Given the description of an element on the screen output the (x, y) to click on. 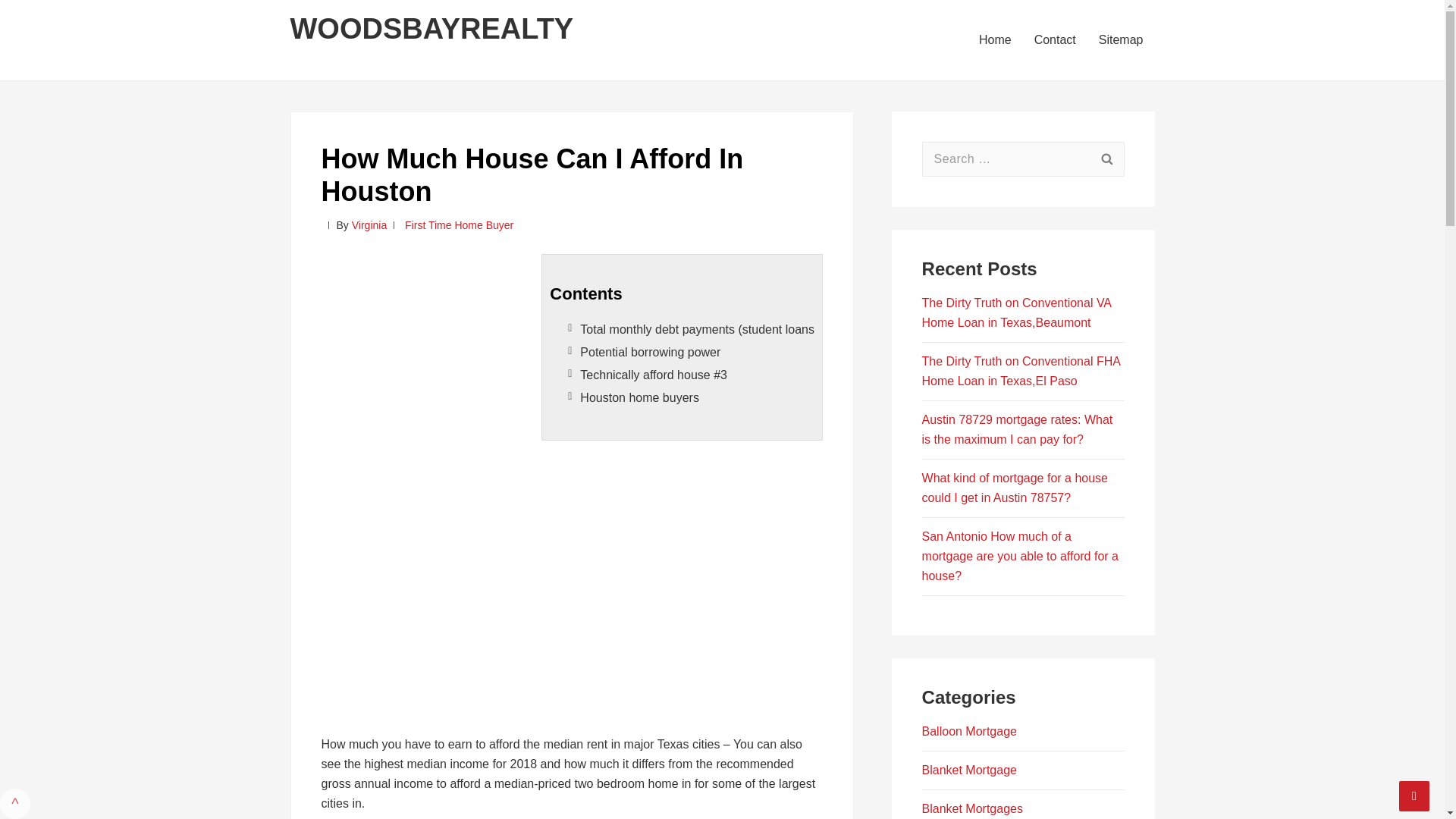
View all posts by Virginia (369, 224)
Sitemap (1120, 39)
Search (1106, 158)
WOODSBAYREALTY (431, 29)
First Time Home Buyer (458, 224)
Blanket Mortgage (968, 769)
Contact (1055, 39)
Home (995, 39)
